Given the description of an element on the screen output the (x, y) to click on. 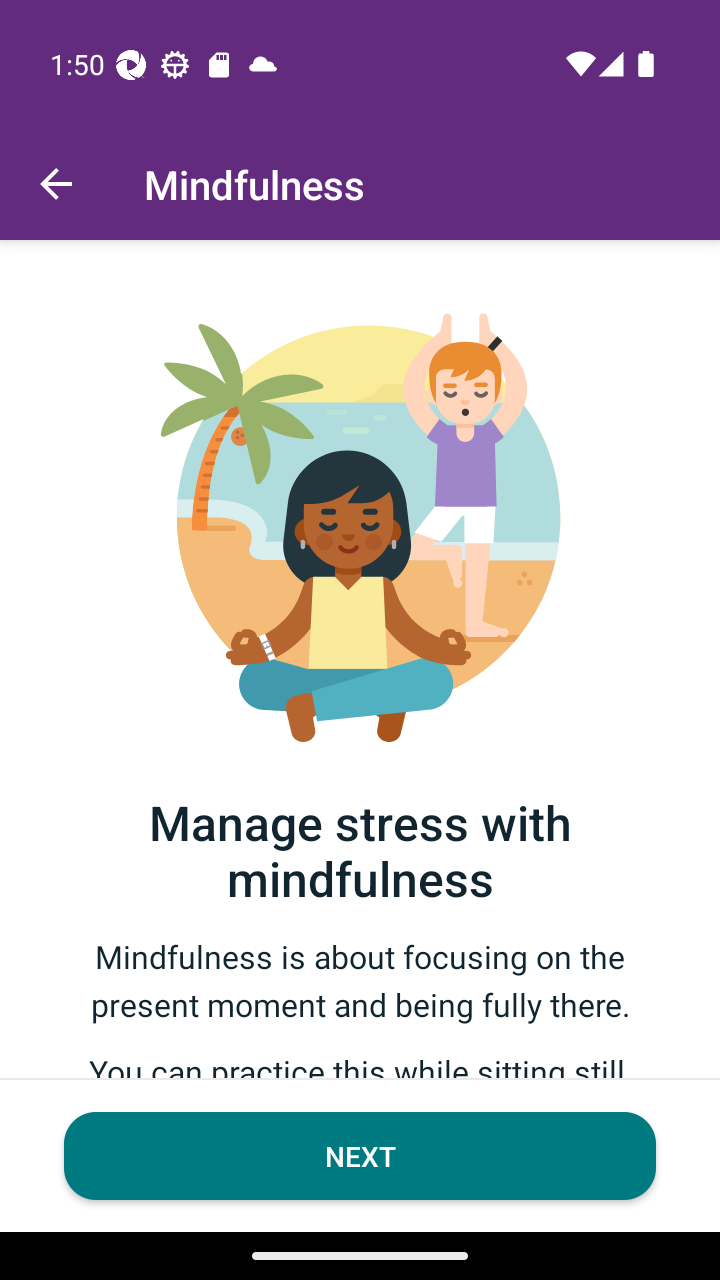
Navigate up (56, 184)
NEXT (359, 1156)
